Given the description of an element on the screen output the (x, y) to click on. 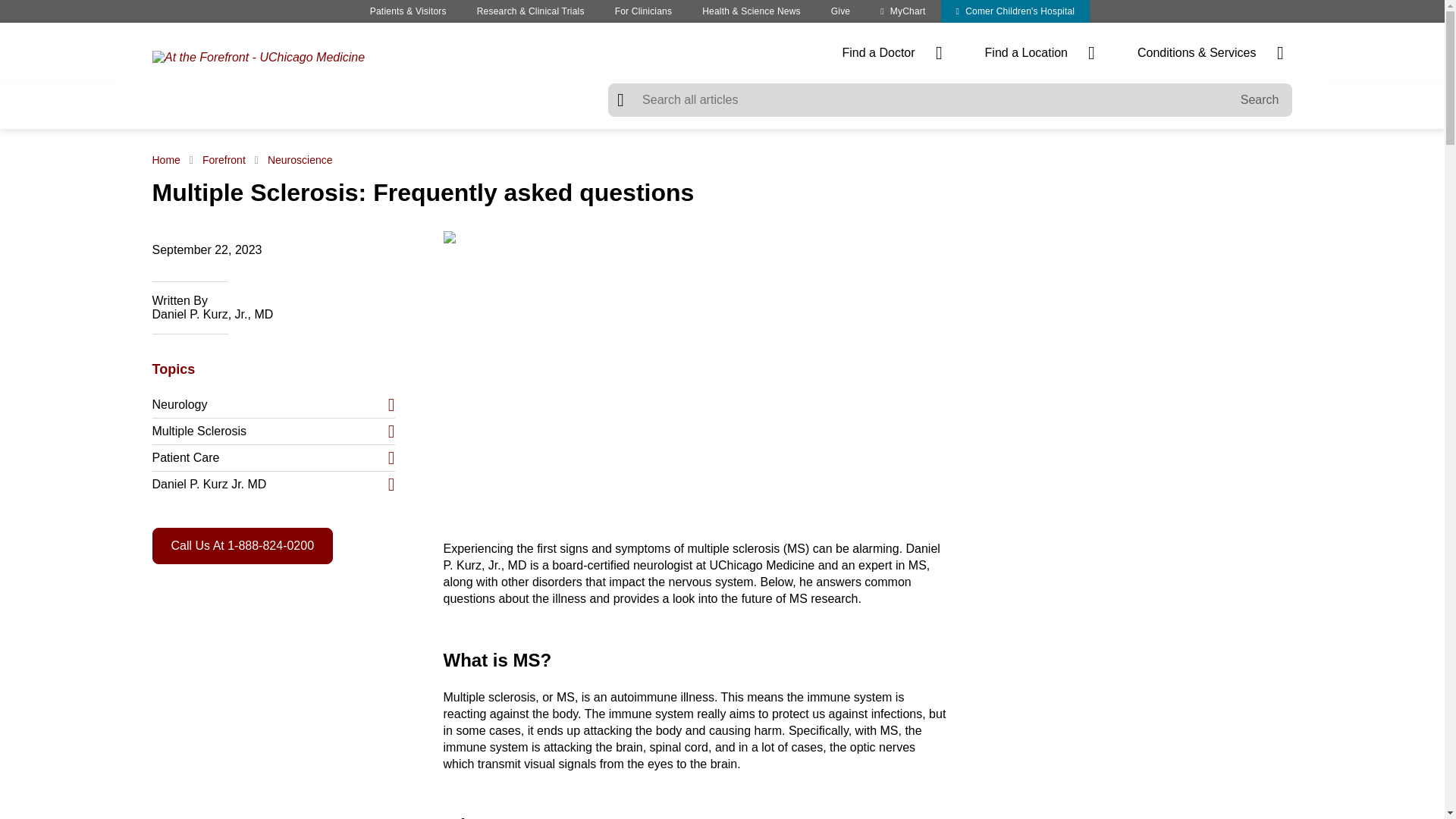
Give (839, 11)
MyChart (902, 11)
Search (1259, 100)
Daniel P. Kurz Jr. MD (272, 484)
For Clinicians (643, 11)
Patient Care (272, 457)
Call Us At 1-888-824-0200 (242, 545)
Find a Doctor (892, 53)
Neuroscience (300, 159)
Find a Location (1039, 53)
